Given the description of an element on the screen output the (x, y) to click on. 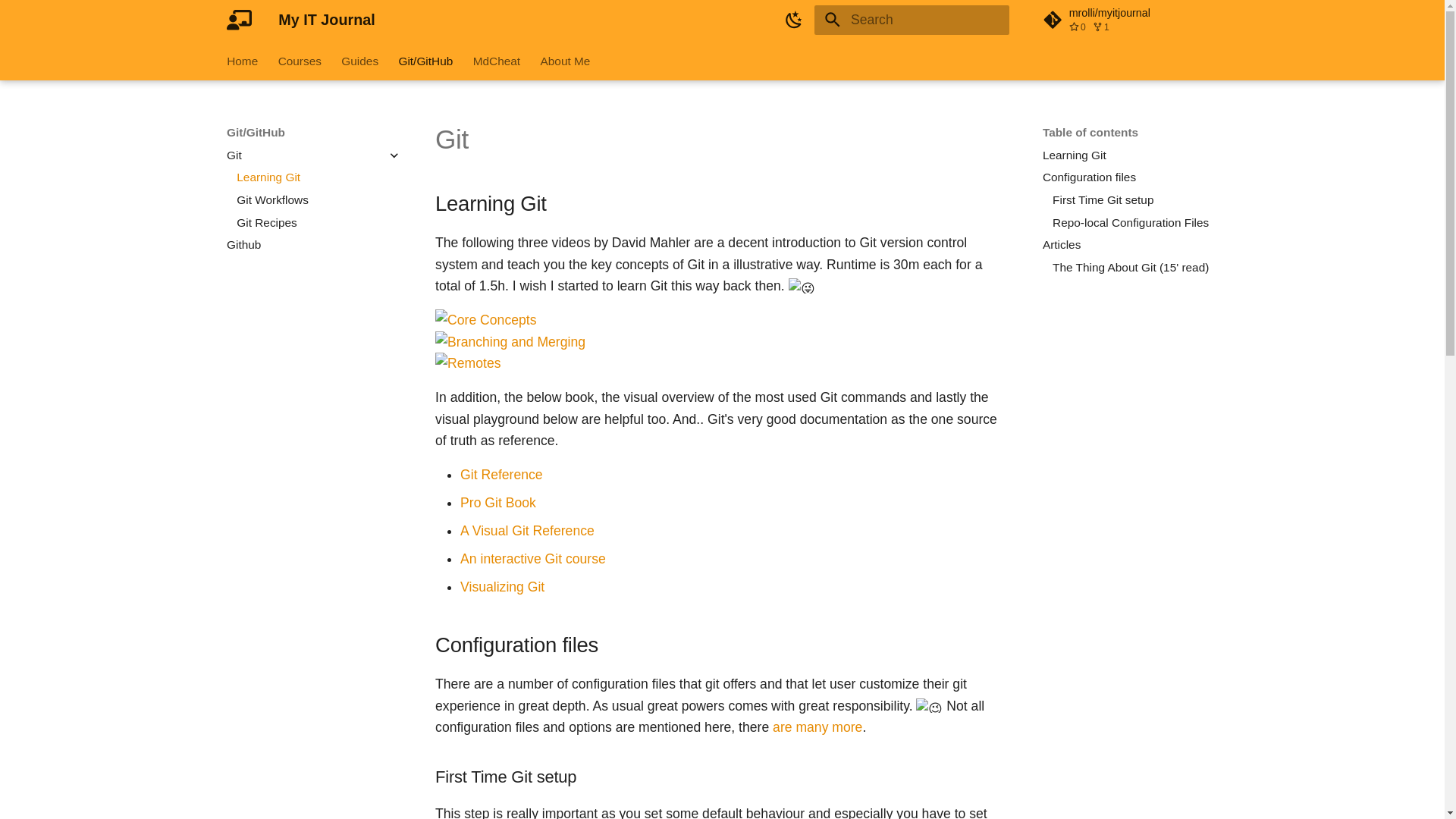
My IT Journal (239, 19)
:wink: (928, 705)
Learning Git (318, 177)
MdCheat (496, 60)
Switch to dark mode (793, 19)
Courses (299, 60)
Guides (359, 60)
About Me (564, 60)
Go to repository (1129, 20)
Home (242, 60)
